Given the description of an element on the screen output the (x, y) to click on. 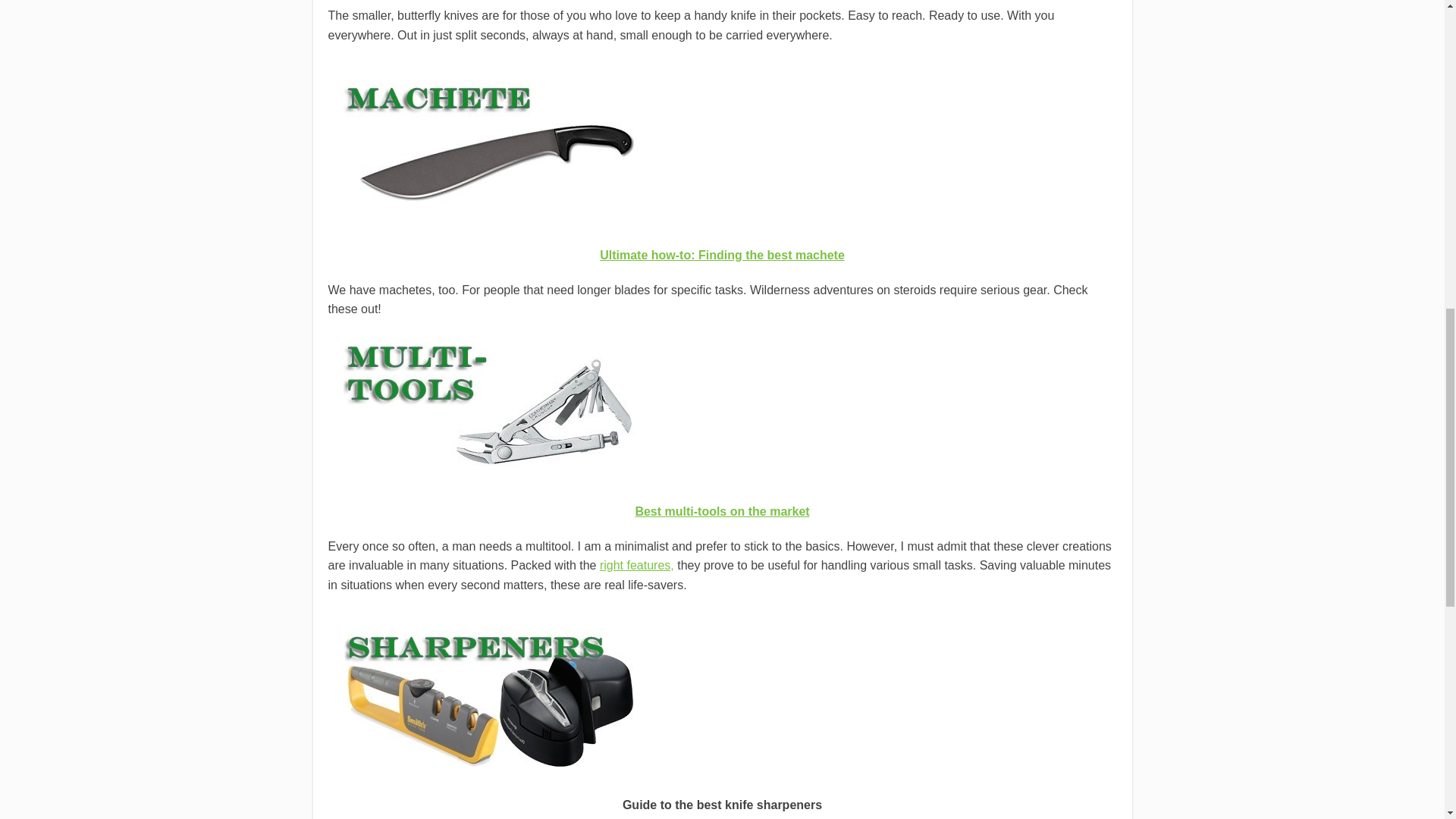
Ultimate how-to: Finding the best machete (721, 254)
Best multi-tools on the market (721, 511)
right features, (636, 564)
